Given the description of an element on the screen output the (x, y) to click on. 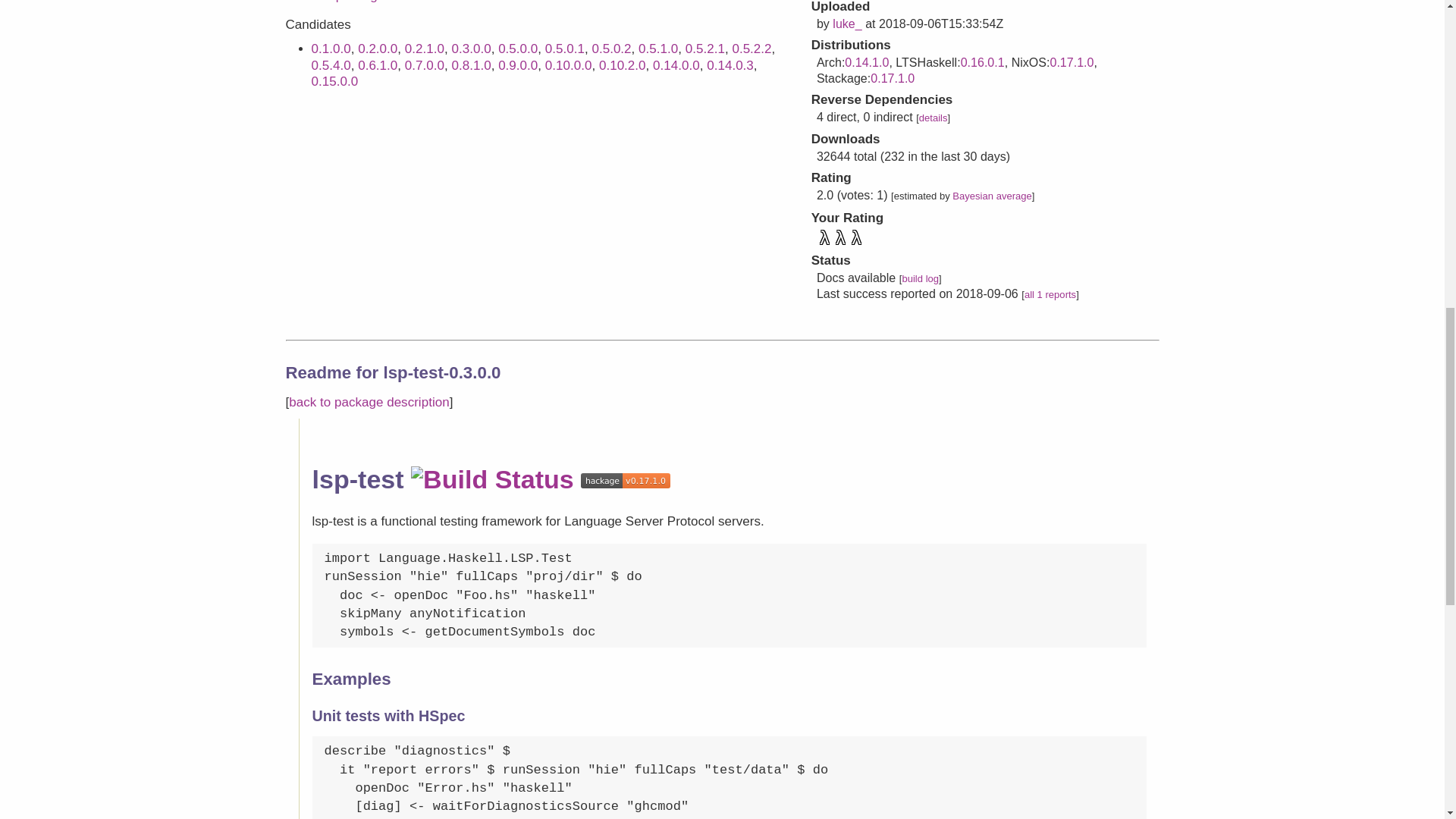
0.5.0.0 (517, 48)
0.5.0.1 (564, 48)
0.1.0.0 (330, 48)
0.5.0.2 (610, 48)
0.2.0.0 (377, 48)
0.2.1.0 (424, 48)
Thu Sep  6 15:33:54 UTC 2018 (941, 23)
edit package information (381, 1)
0.3.0.0 (470, 48)
